Given the description of an element on the screen output the (x, y) to click on. 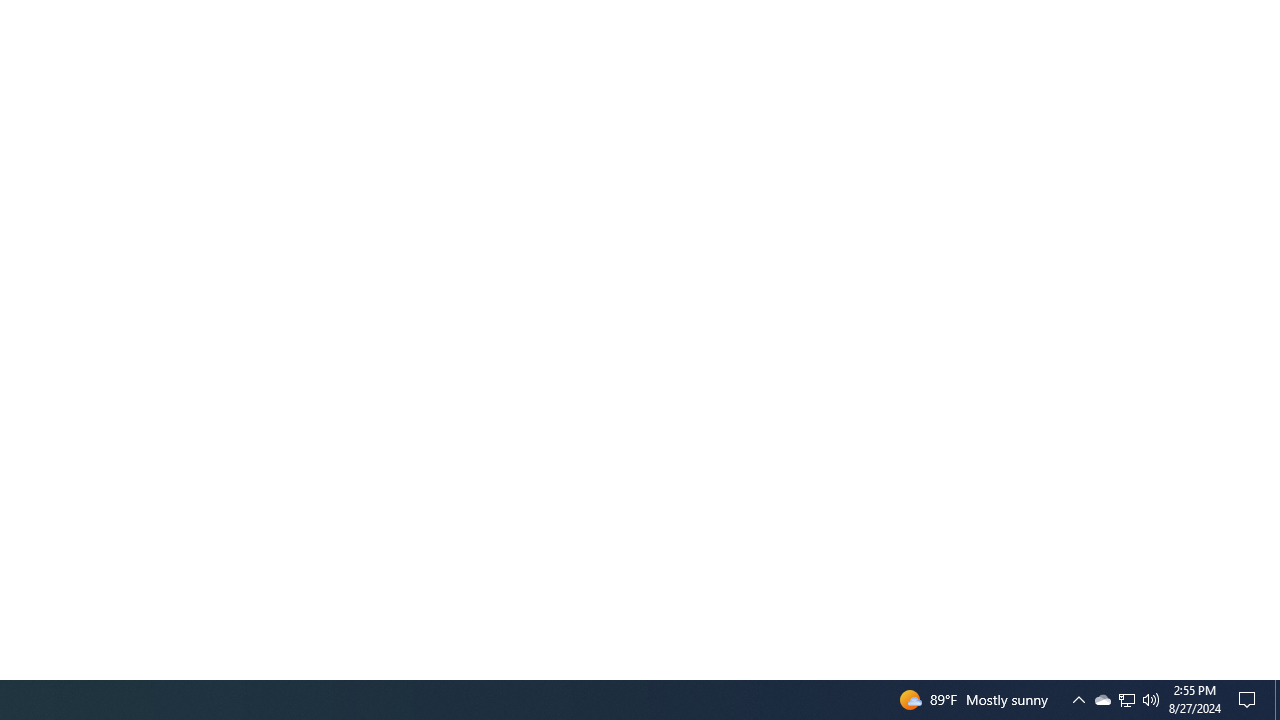
Action Center, No new notifications (1250, 699)
User Promoted Notification Area (1126, 699)
Show desktop (1277, 699)
Notification Chevron (1126, 699)
Q2790: 100% (1078, 699)
